Given the description of an element on the screen output the (x, y) to click on. 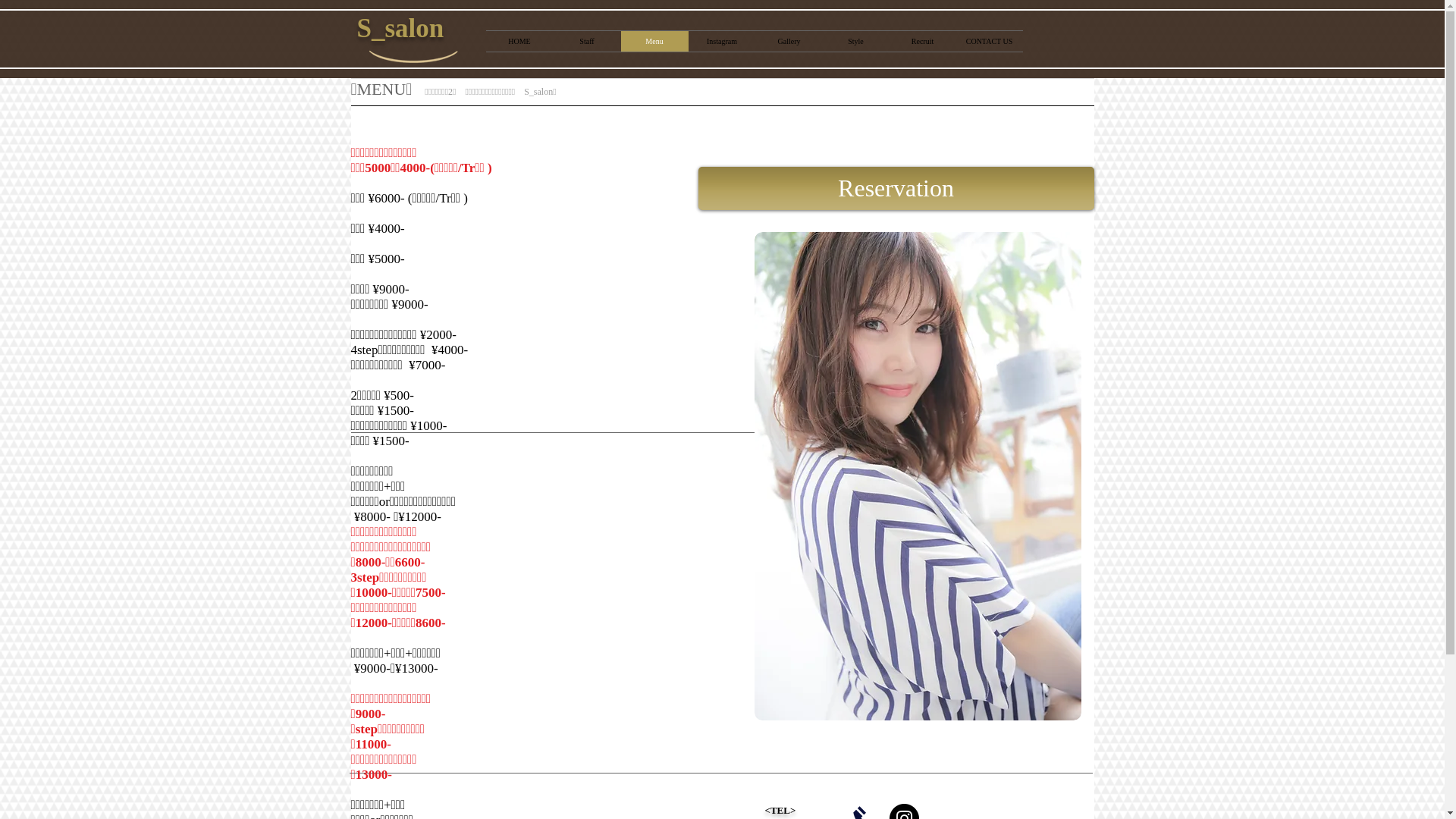
Recruit Element type: text (921, 41)
Staff Element type: text (587, 41)
Menu Element type: text (653, 41)
CONTACT US Element type: text (988, 41)
Gallery Element type: text (788, 41)
HOME Element type: text (518, 41)
S_salon Element type: text (399, 28)
Reservation Element type: text (895, 188)
Style Element type: text (855, 41)
Instagram Element type: text (722, 41)
